Given the description of an element on the screen output the (x, y) to click on. 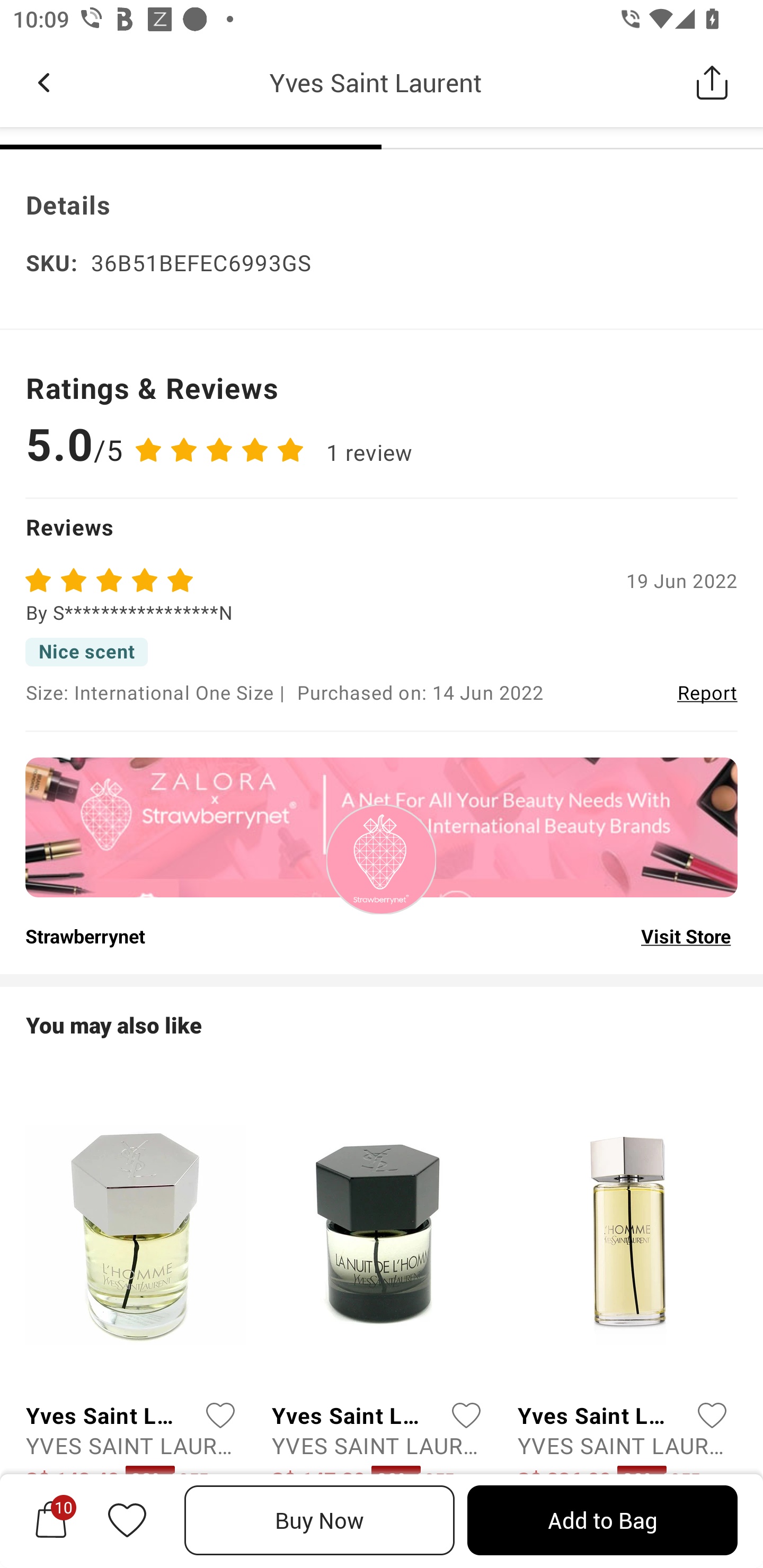
Yves Saint Laurent (375, 82)
Share this Product (711, 82)
Report (707, 691)
content description (381, 859)
Strawberrynet (84, 935)
Visit Store (685, 935)
Buy Now (319, 1519)
Add to Bag (601, 1519)
10 (50, 1520)
